Given the description of an element on the screen output the (x, y) to click on. 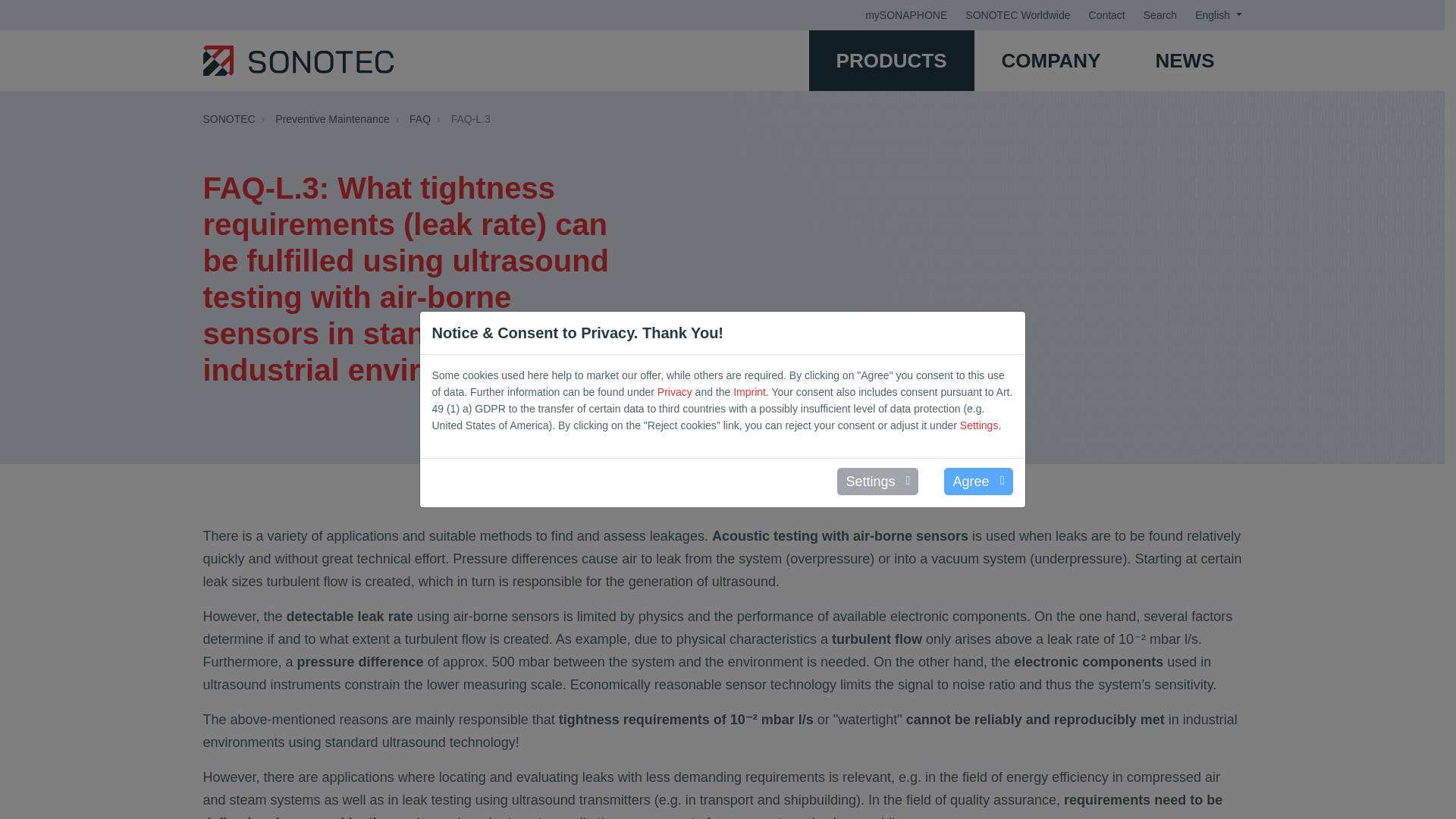
Search (1159, 15)
SONOTEC (298, 60)
Contact (1107, 15)
SONOTEC Worldwide (1017, 15)
PRODUCTS (891, 60)
Contact (1107, 15)
mySONAPHONE (905, 15)
SONOTEC Worldwide (1017, 15)
English (1218, 15)
mySONAPHONE (905, 15)
Products (891, 60)
